Given the description of an element on the screen output the (x, y) to click on. 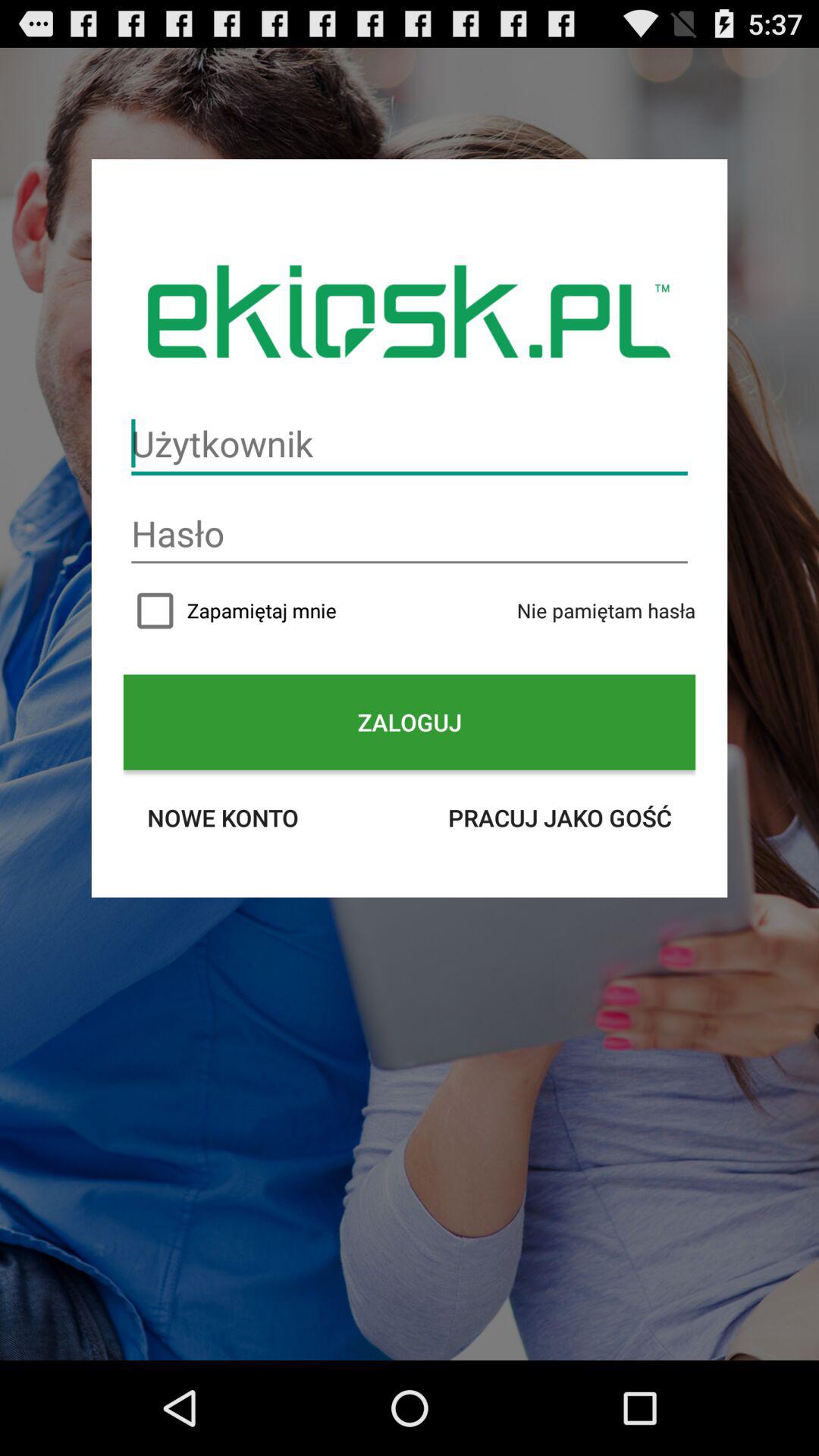
enter username (409, 444)
